Given the description of an element on the screen output the (x, y) to click on. 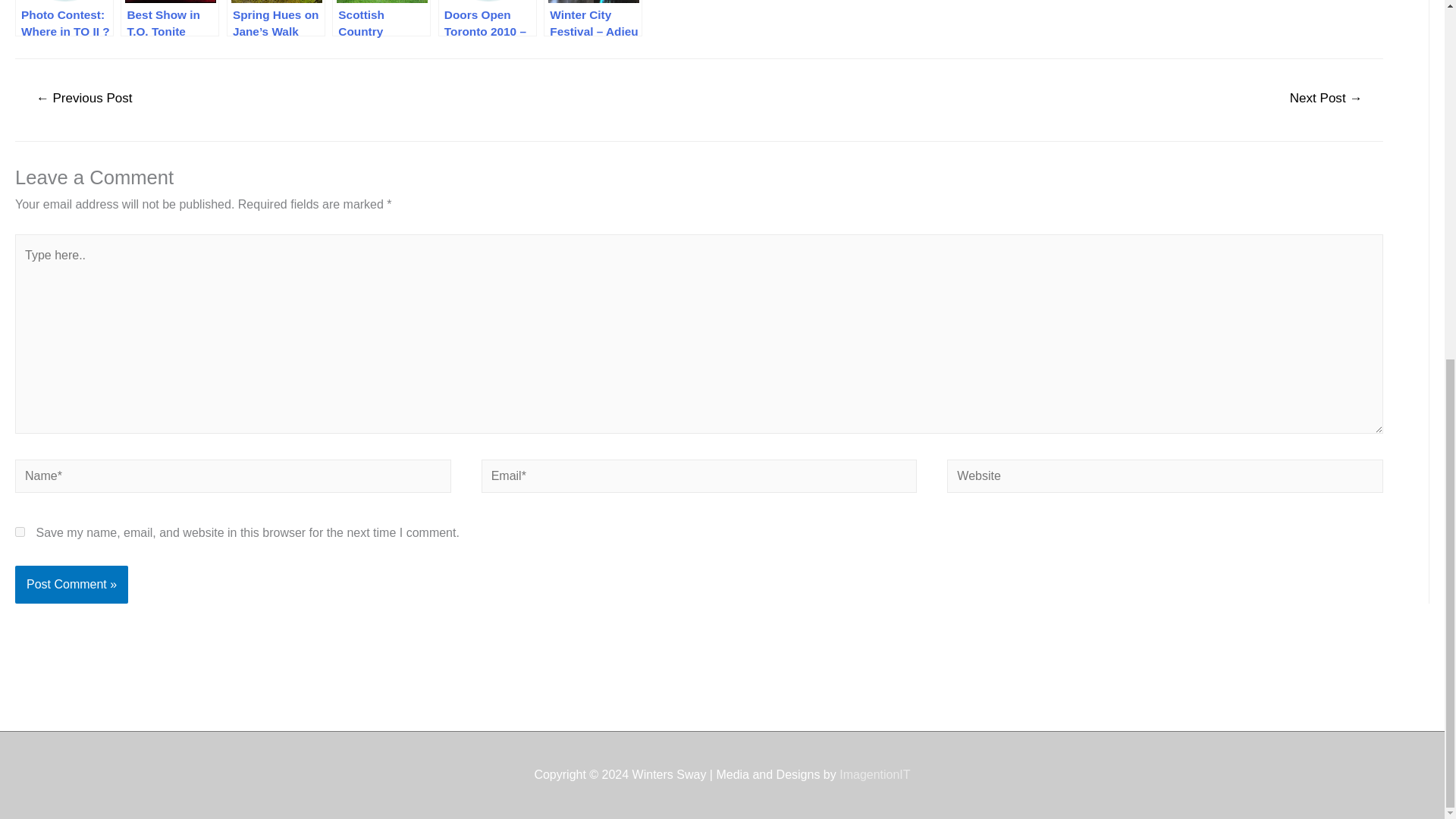
Best Show in T.O. Tonite (169, 18)
Scottish Country Dancing (380, 18)
Best Show in T.O. Tonite (169, 18)
yes (19, 532)
ImagentionIT (875, 774)
Photo Contest: Where in TO II ? (63, 18)
Scottish Country Dancing (380, 18)
Photo Contest: Where in TO II ? (63, 18)
